Given the description of an element on the screen output the (x, y) to click on. 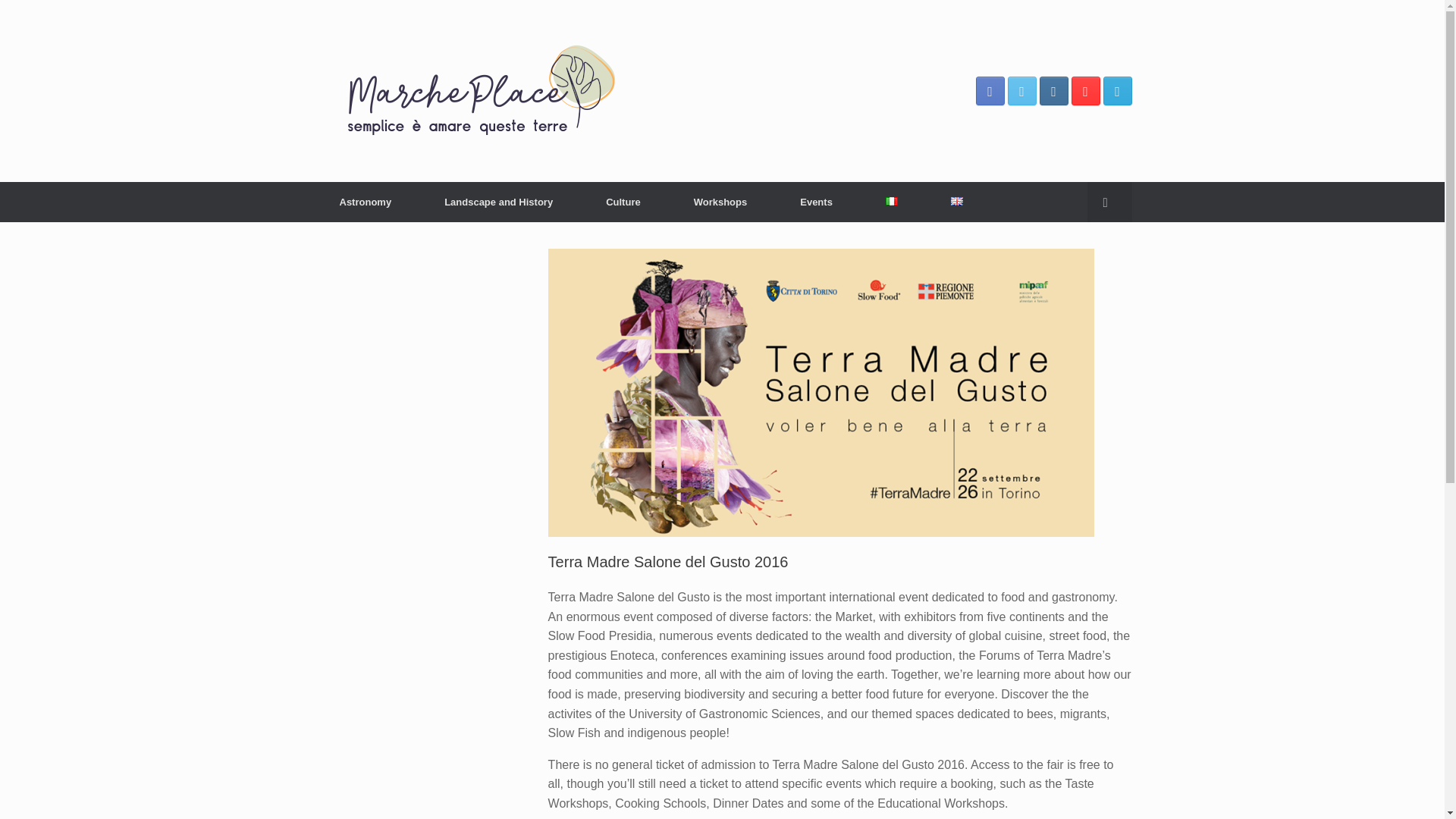
Landscape and History (498, 201)
Culture (622, 201)
MarchePlace Twitter (1021, 90)
MarchePlace Facebook (989, 90)
MarchePlace Instagram (1053, 90)
MarchePlace YouTube (1084, 90)
Workshops (720, 201)
Astronomy (365, 201)
Events (816, 201)
MarchePlace (483, 91)
